Given the description of an element on the screen output the (x, y) to click on. 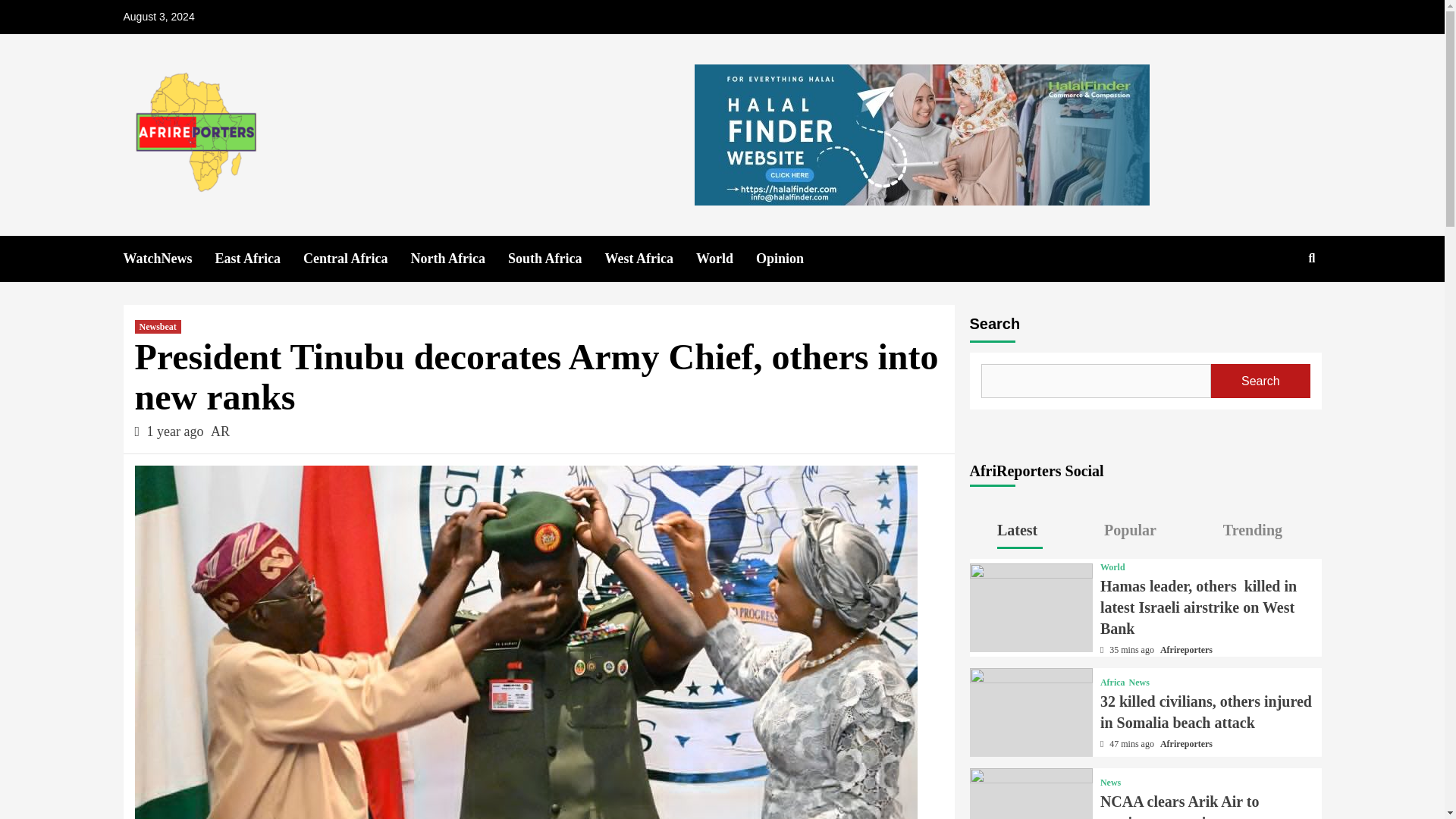
World (725, 258)
West Africa (649, 258)
Opinion (791, 258)
South Africa (556, 258)
1 year ago (176, 431)
AR (220, 431)
North Africa (458, 258)
Newsbeat (157, 326)
WatchNews (168, 258)
East Africa (258, 258)
Search (1276, 307)
Central Africa (356, 258)
